Given the description of an element on the screen output the (x, y) to click on. 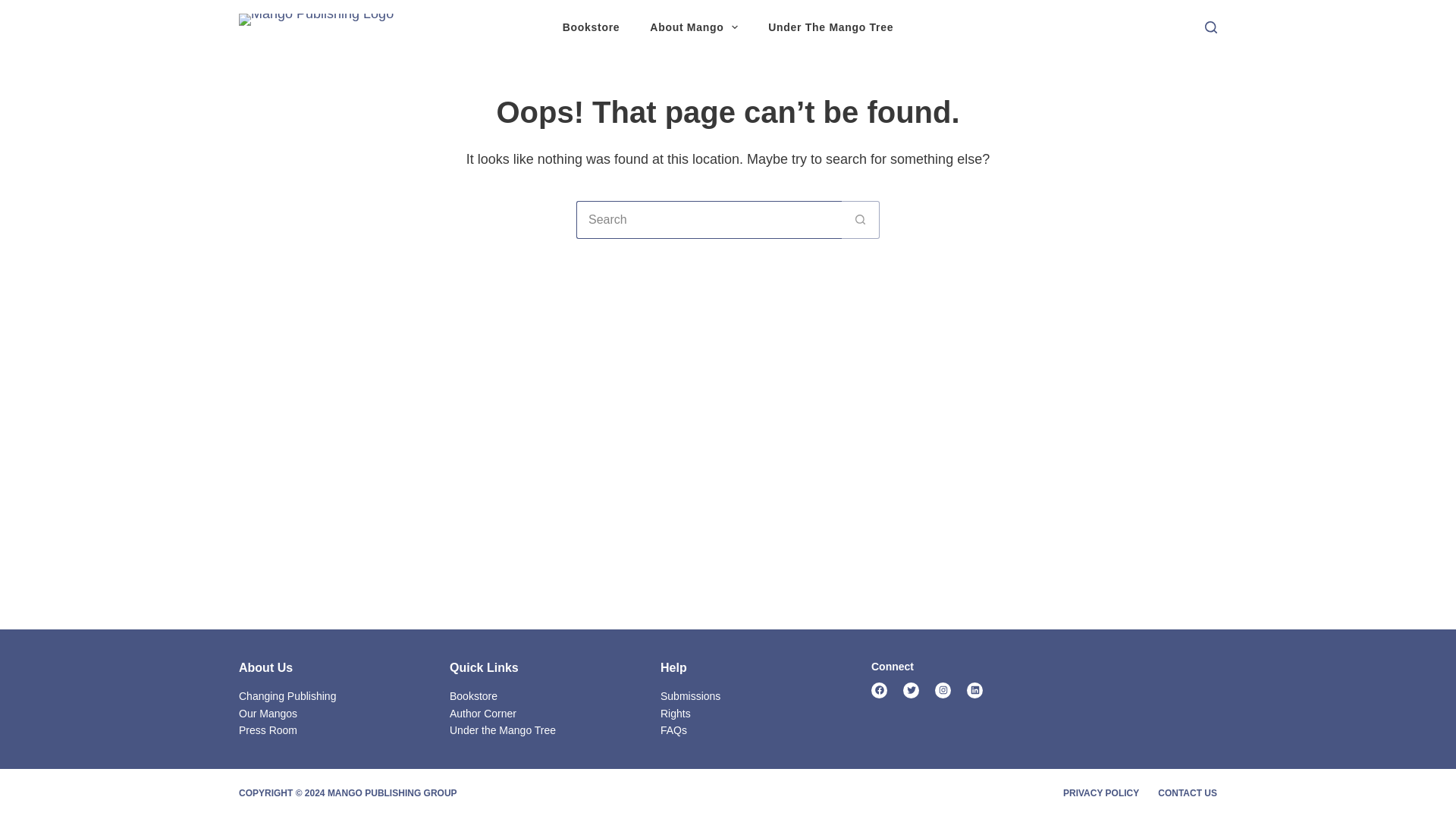
FAQs (674, 729)
Submissions (690, 695)
Skip to content (15, 7)
Bookstore (473, 695)
Press Room (267, 729)
Author Corner (482, 713)
Changing Publishing (287, 695)
Rights (675, 713)
Search for... (708, 219)
About Mango (693, 27)
